Given the description of an element on the screen output the (x, y) to click on. 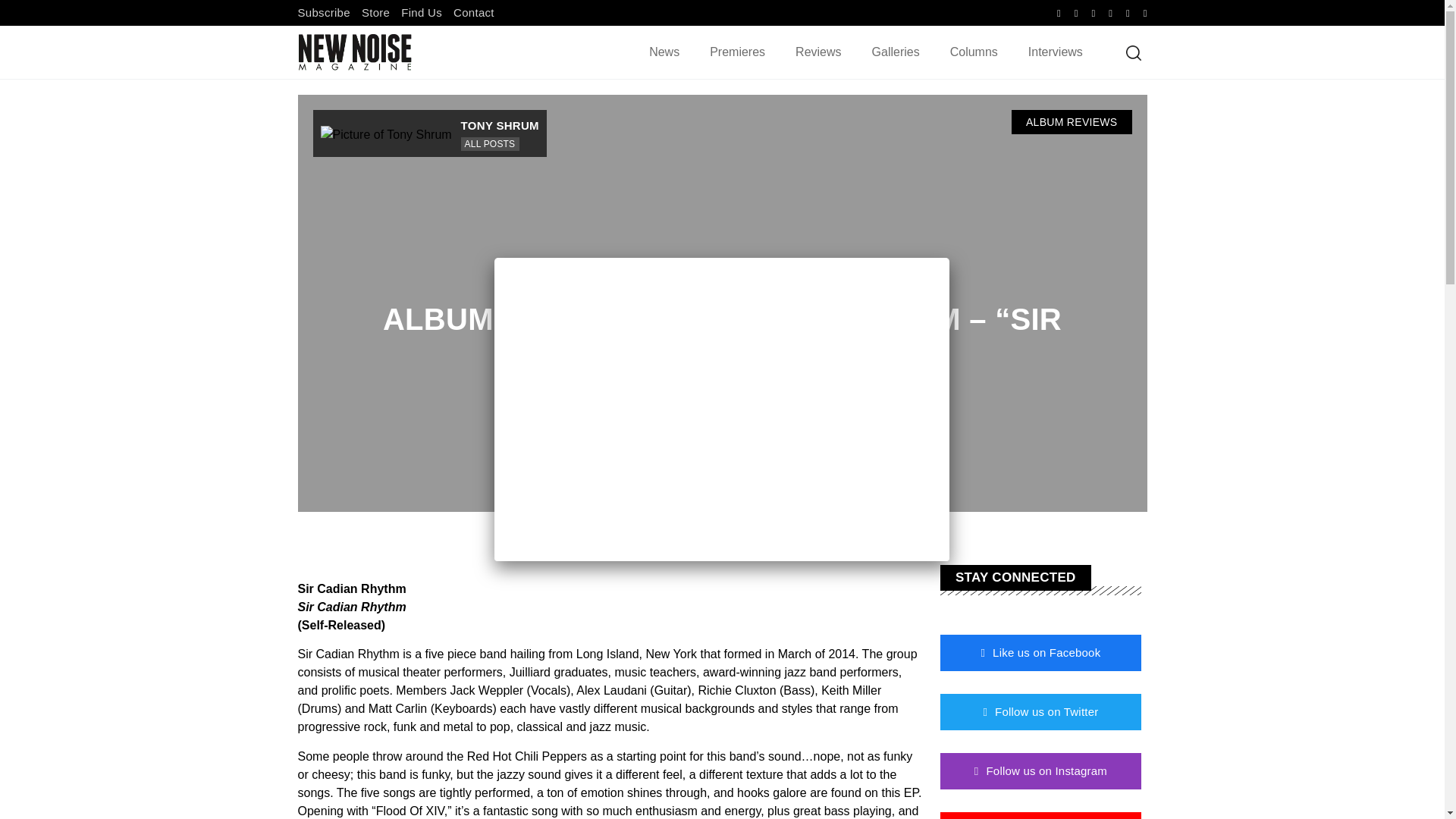
Galleries (895, 52)
Reviews (818, 52)
Close (949, 257)
Columns (973, 52)
Find Us (421, 12)
Store (375, 12)
Contact (473, 12)
Premieres (737, 52)
Interviews (1055, 52)
Subscribe (323, 12)
